Given the description of an element on the screen output the (x, y) to click on. 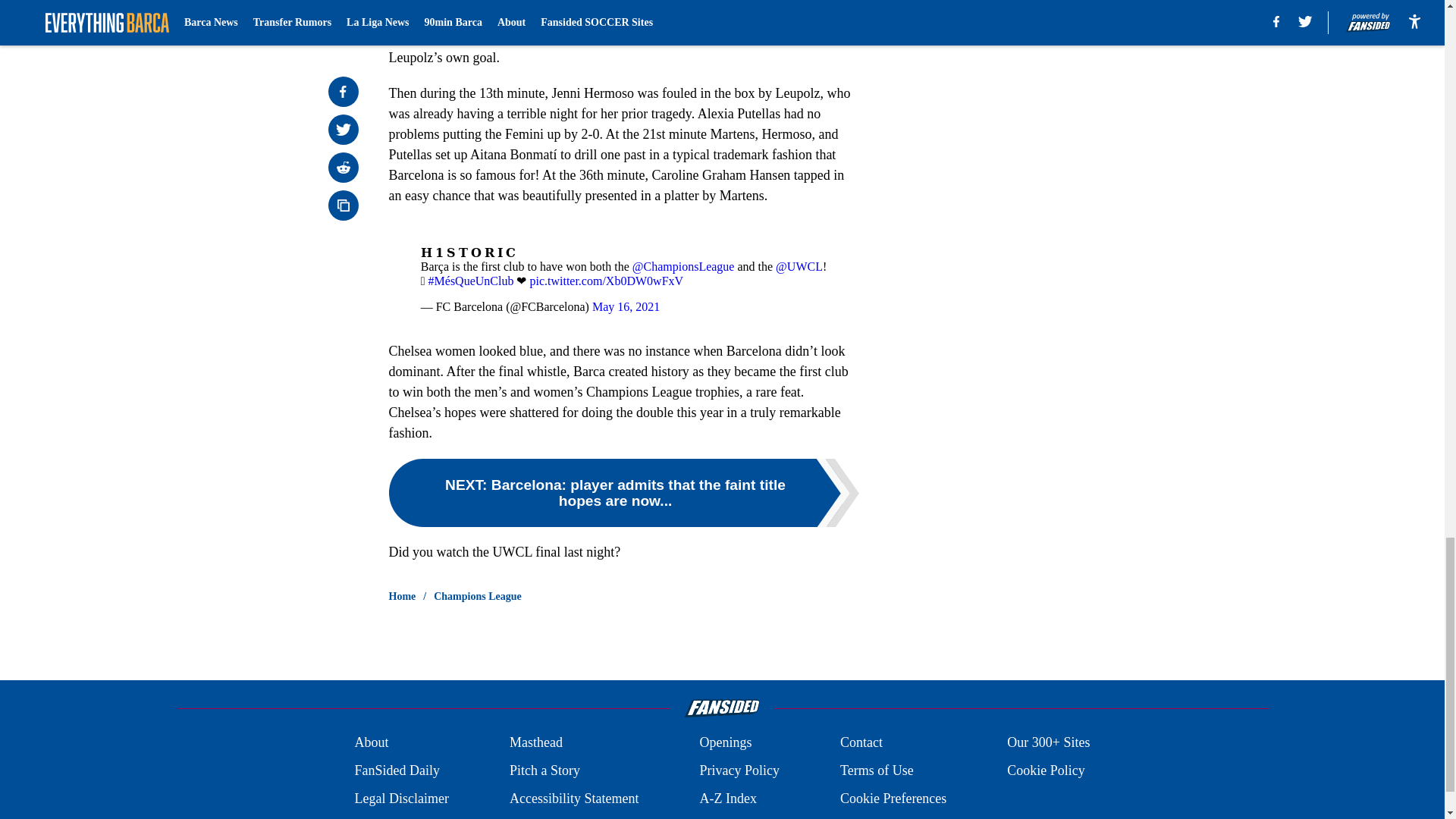
May 16, 2021 (625, 306)
Masthead (535, 742)
Contact (861, 742)
Openings (724, 742)
Home (401, 596)
Champions League (477, 596)
About (370, 742)
